Given the description of an element on the screen output the (x, y) to click on. 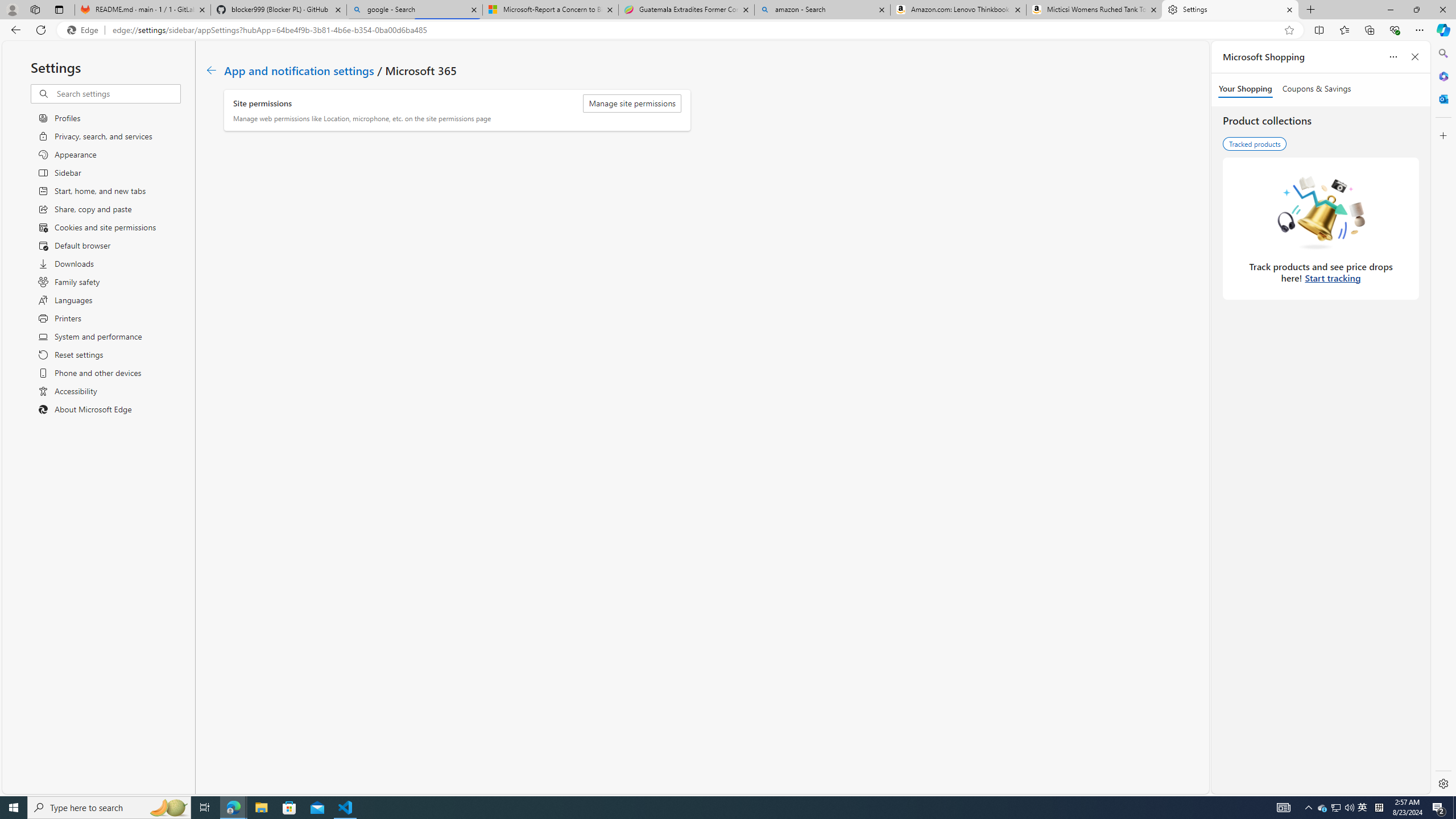
Microsoft-Report a Concern to Bing (550, 9)
Search settings (117, 93)
